Given the description of an element on the screen output the (x, y) to click on. 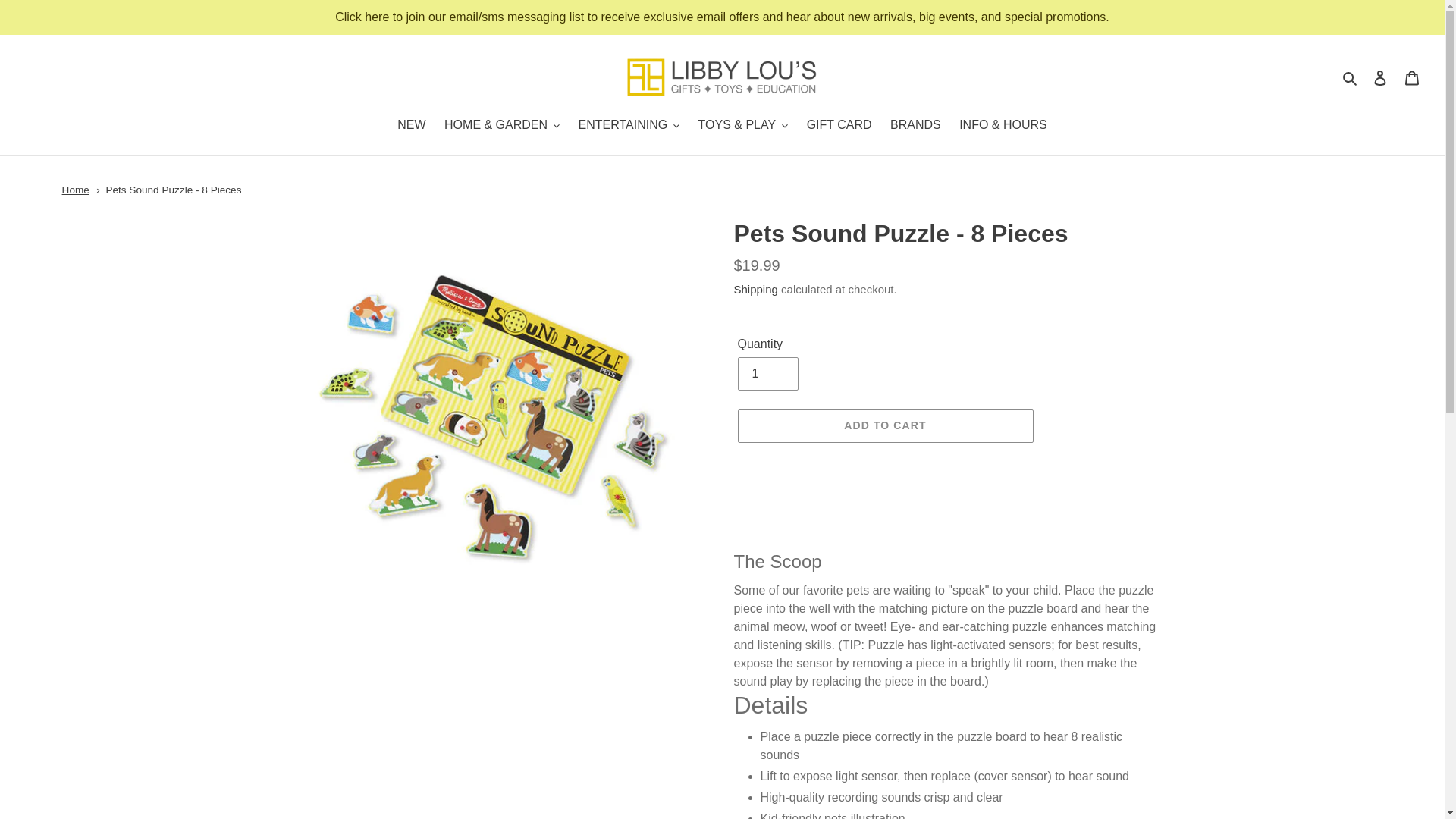
Cart (1412, 77)
Log in (1380, 77)
Home (75, 189)
1 (766, 373)
Search (1351, 76)
